Given the description of an element on the screen output the (x, y) to click on. 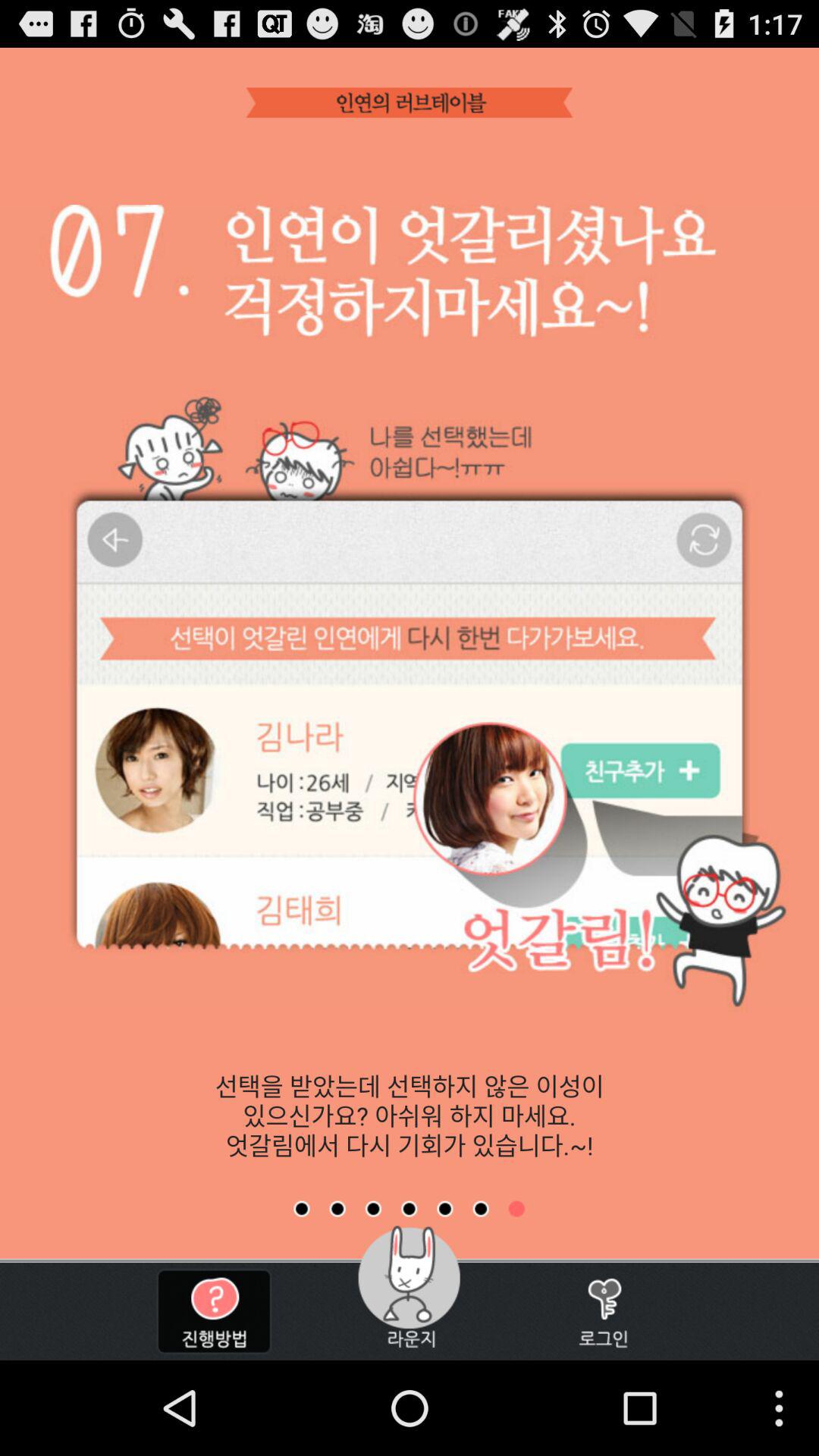
scroll to last page (516, 1208)
